Given the description of an element on the screen output the (x, y) to click on. 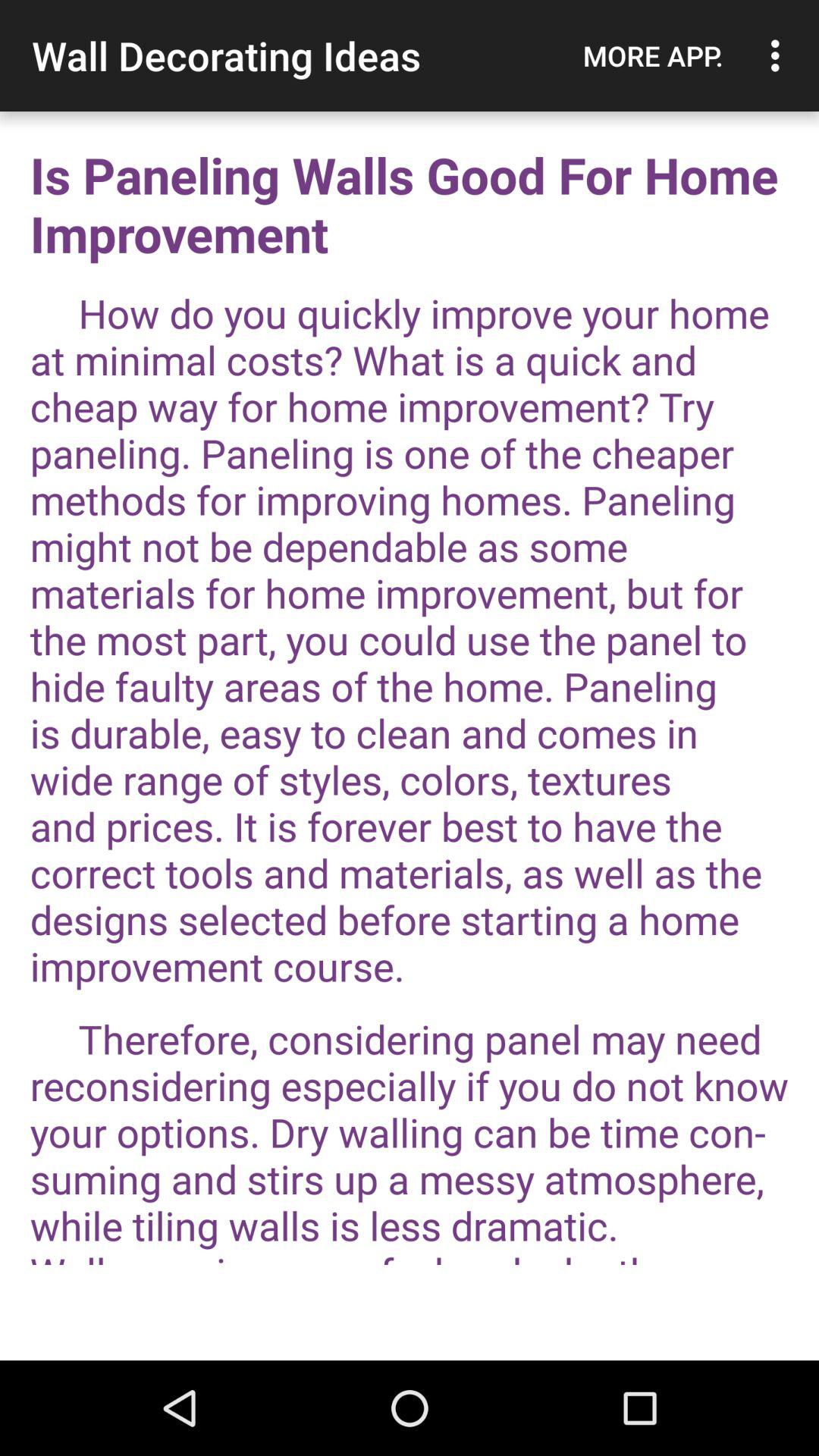
tap the item next to the more app. icon (779, 55)
